Given the description of an element on the screen output the (x, y) to click on. 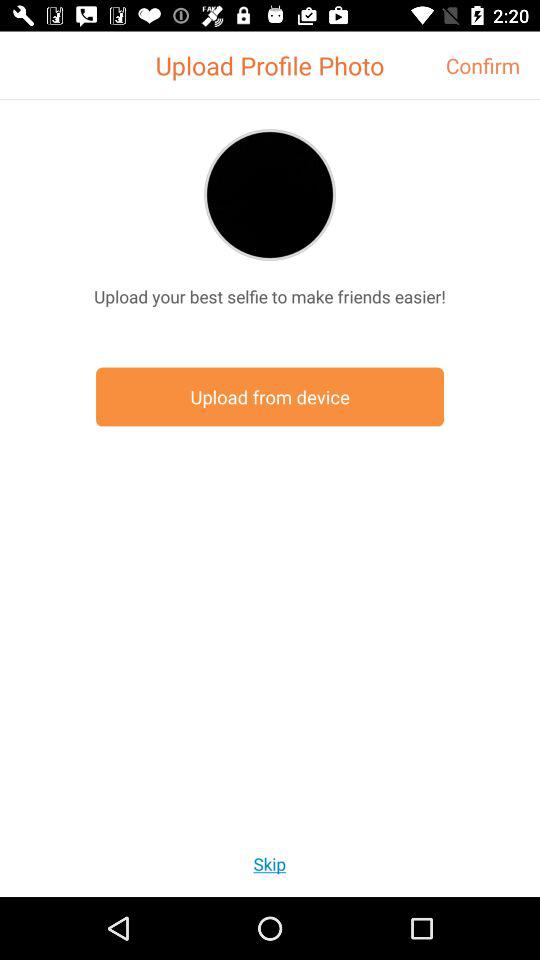
scroll until upload from device app (270, 396)
